Given the description of an element on the screen output the (x, y) to click on. 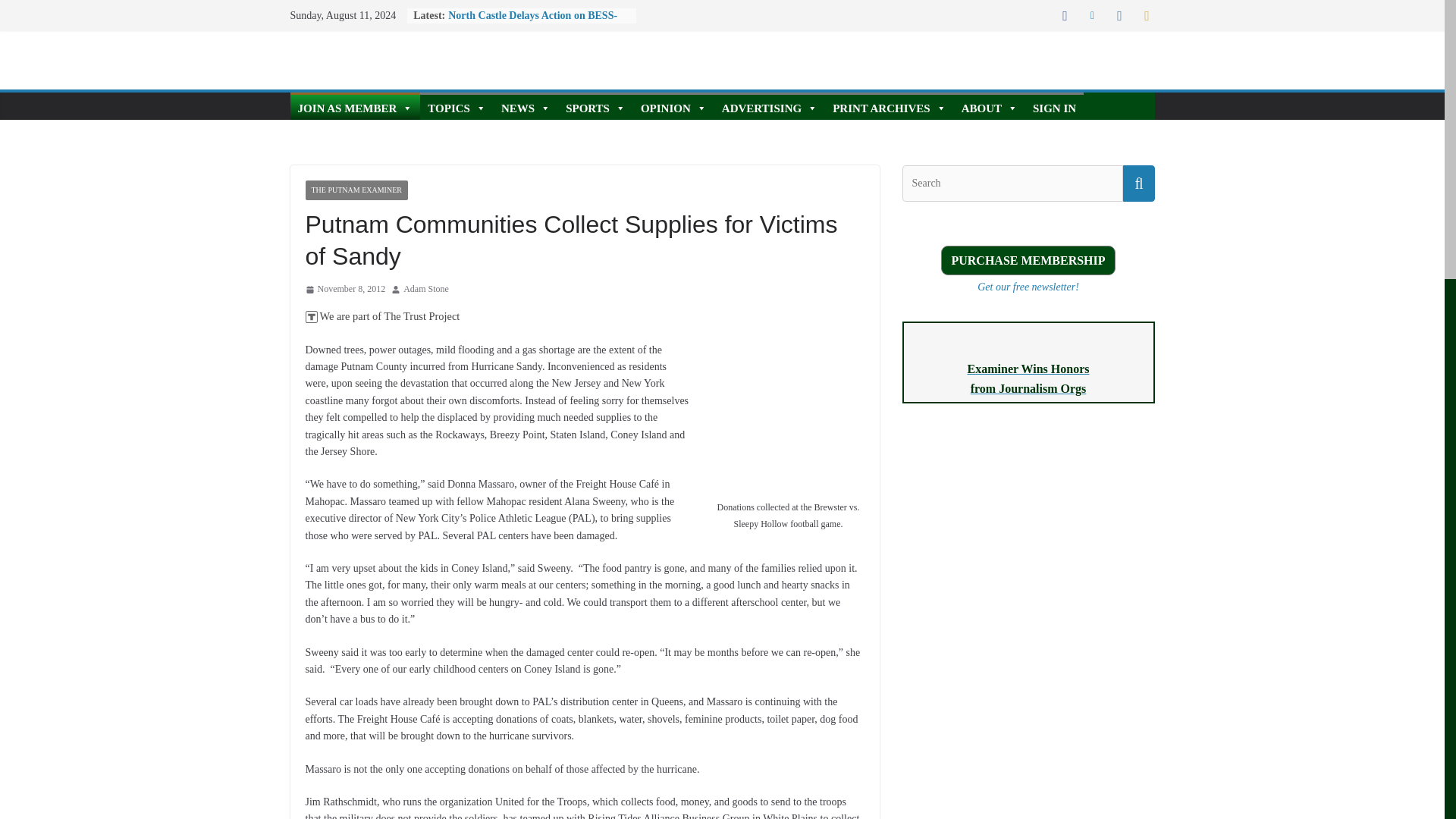
JOIN AS MEMBER (354, 105)
Adam Stone (425, 289)
NEWS (525, 105)
TOPICS (456, 105)
8:16 am (344, 289)
